Given the description of an element on the screen output the (x, y) to click on. 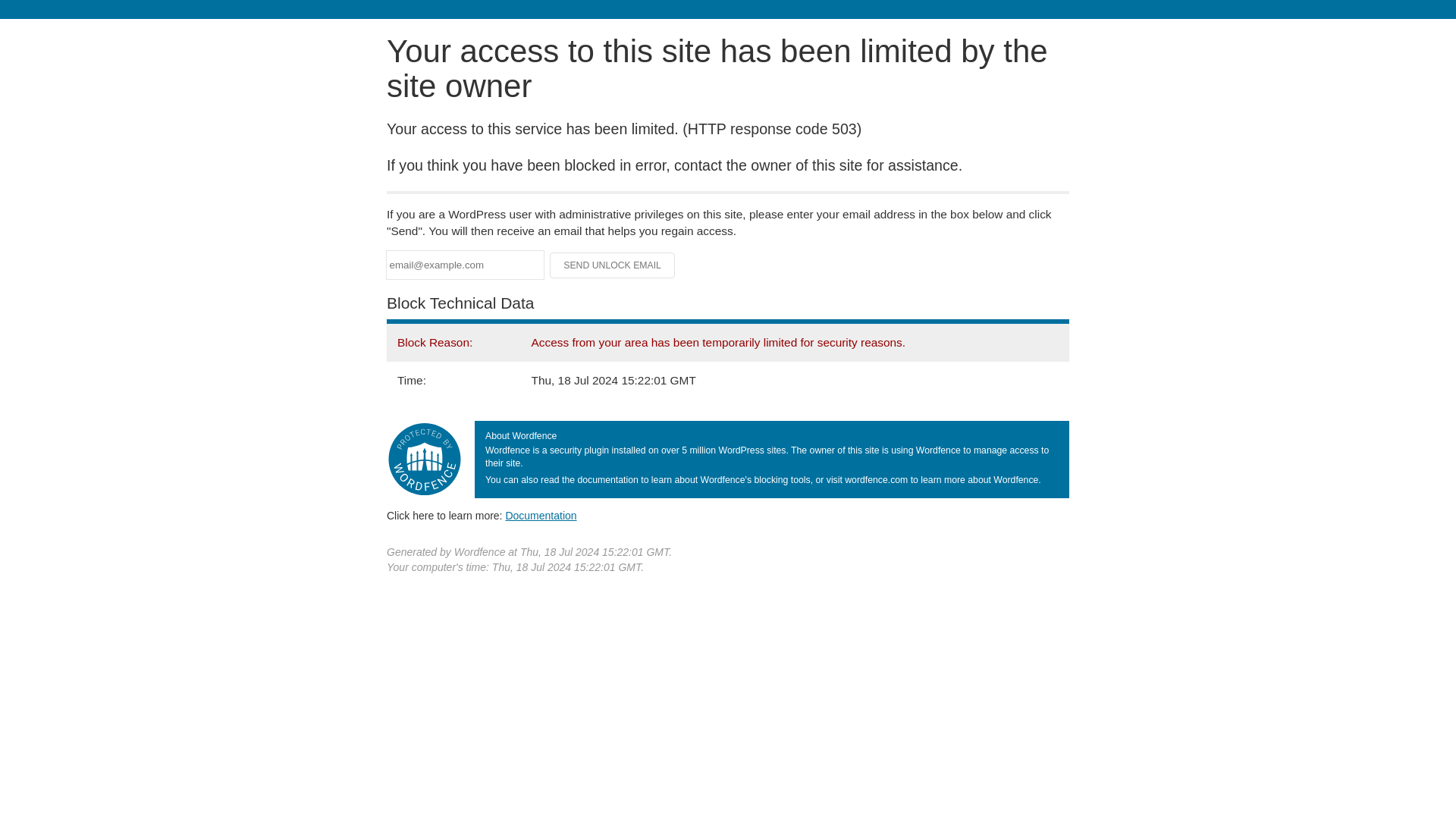
Documentation (540, 515)
Send Unlock Email (612, 265)
Send Unlock Email (612, 265)
